Given the description of an element on the screen output the (x, y) to click on. 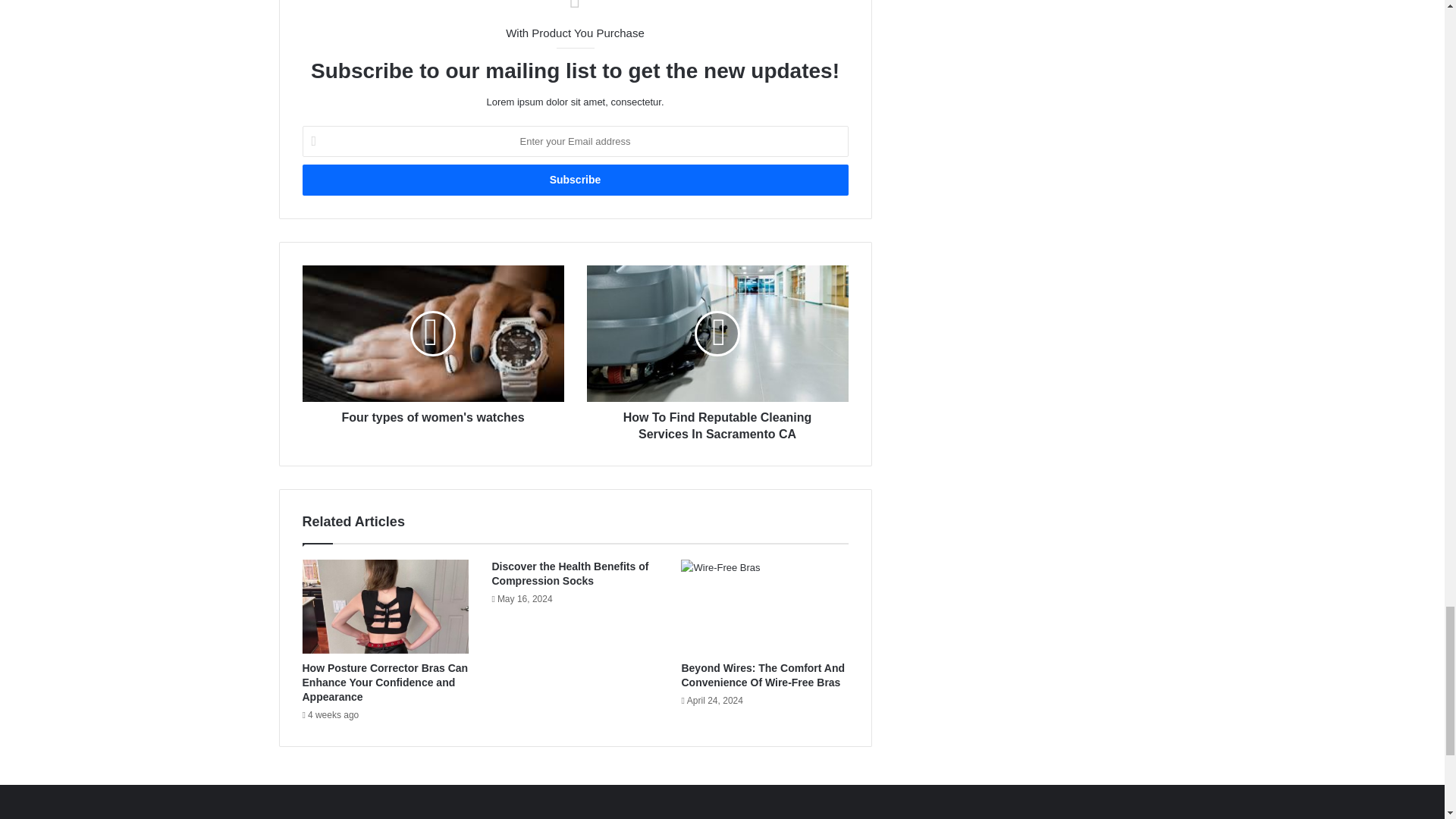
Subscribe (574, 179)
